Given the description of an element on the screen output the (x, y) to click on. 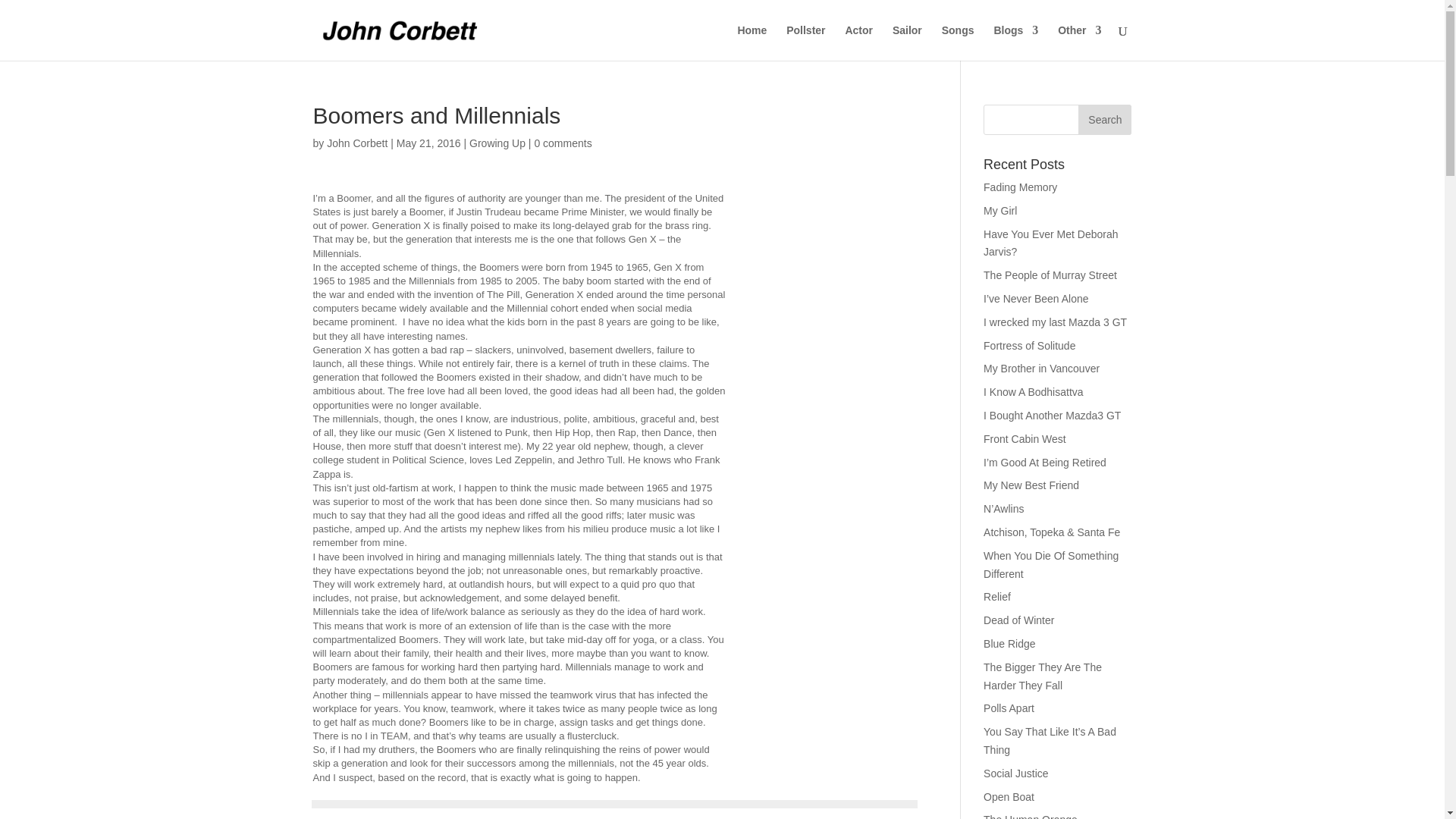
Growing Up (496, 143)
My Brother in Vancouver (1041, 368)
0 comments (562, 143)
The People of Murray Street (1050, 275)
Have You Ever Met Deborah Jarvis? (1051, 243)
Fortress of Solitude (1029, 345)
Search (1104, 119)
I wrecked my last Mazda 3 GT (1055, 322)
I Bought Another Mazda3 GT (1052, 415)
Fading Memory (1020, 186)
Other (1079, 42)
Posts by John Corbett (356, 143)
My Girl (1000, 210)
Blogs (1015, 42)
Search (1104, 119)
